Given the description of an element on the screen output the (x, y) to click on. 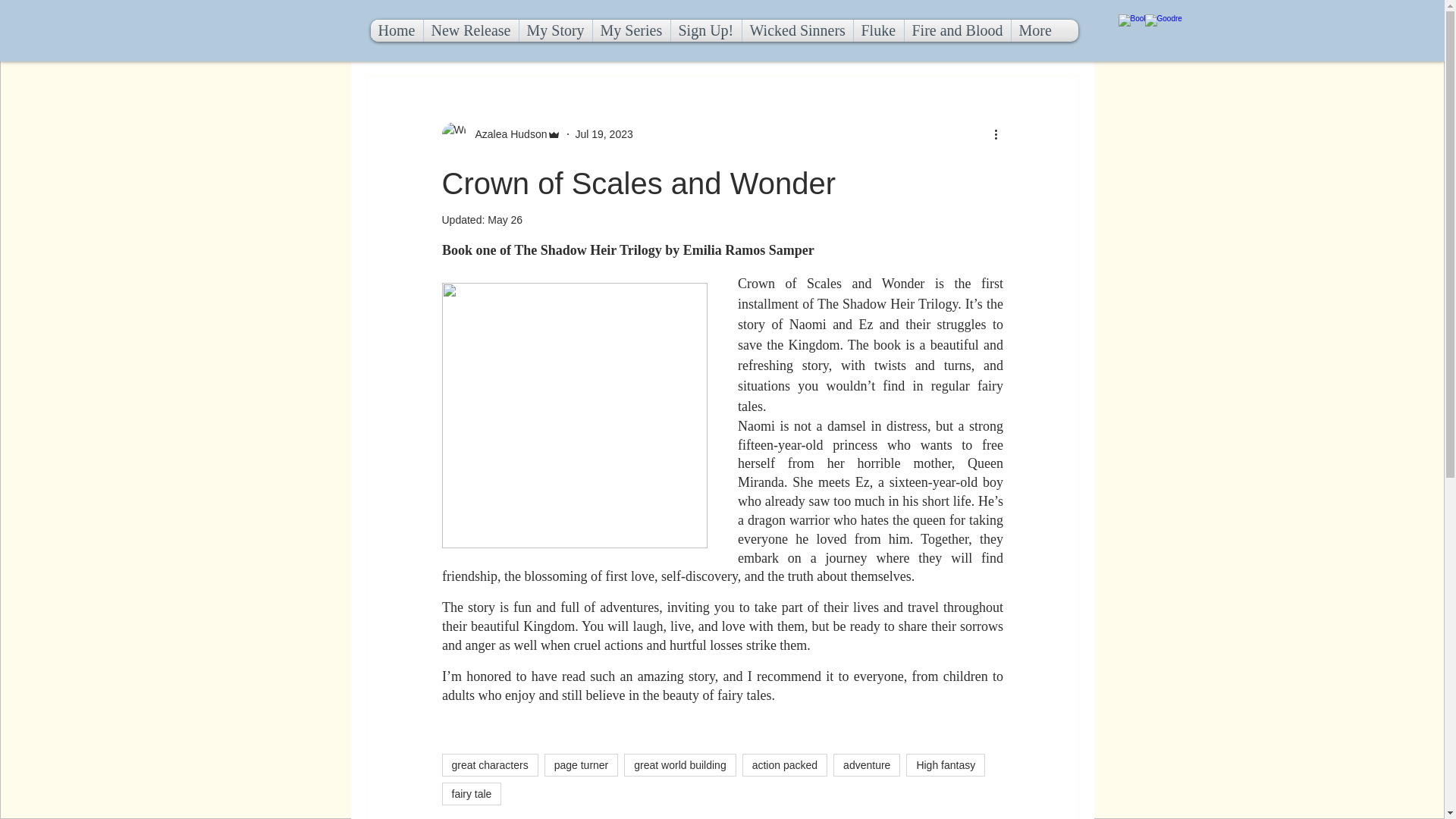
My Story (554, 30)
My Series (630, 30)
MM Romance (714, 30)
High fantasy (945, 764)
Historical (895, 30)
May 26 (504, 219)
Jul 19, 2023 (603, 133)
adventure (865, 764)
great characters (489, 764)
Paranormal (810, 30)
Sign Up! (705, 30)
Contemporary (478, 30)
great world building (679, 764)
Azalea Hudson (506, 133)
Fluke (878, 30)
